Given the description of an element on the screen output the (x, y) to click on. 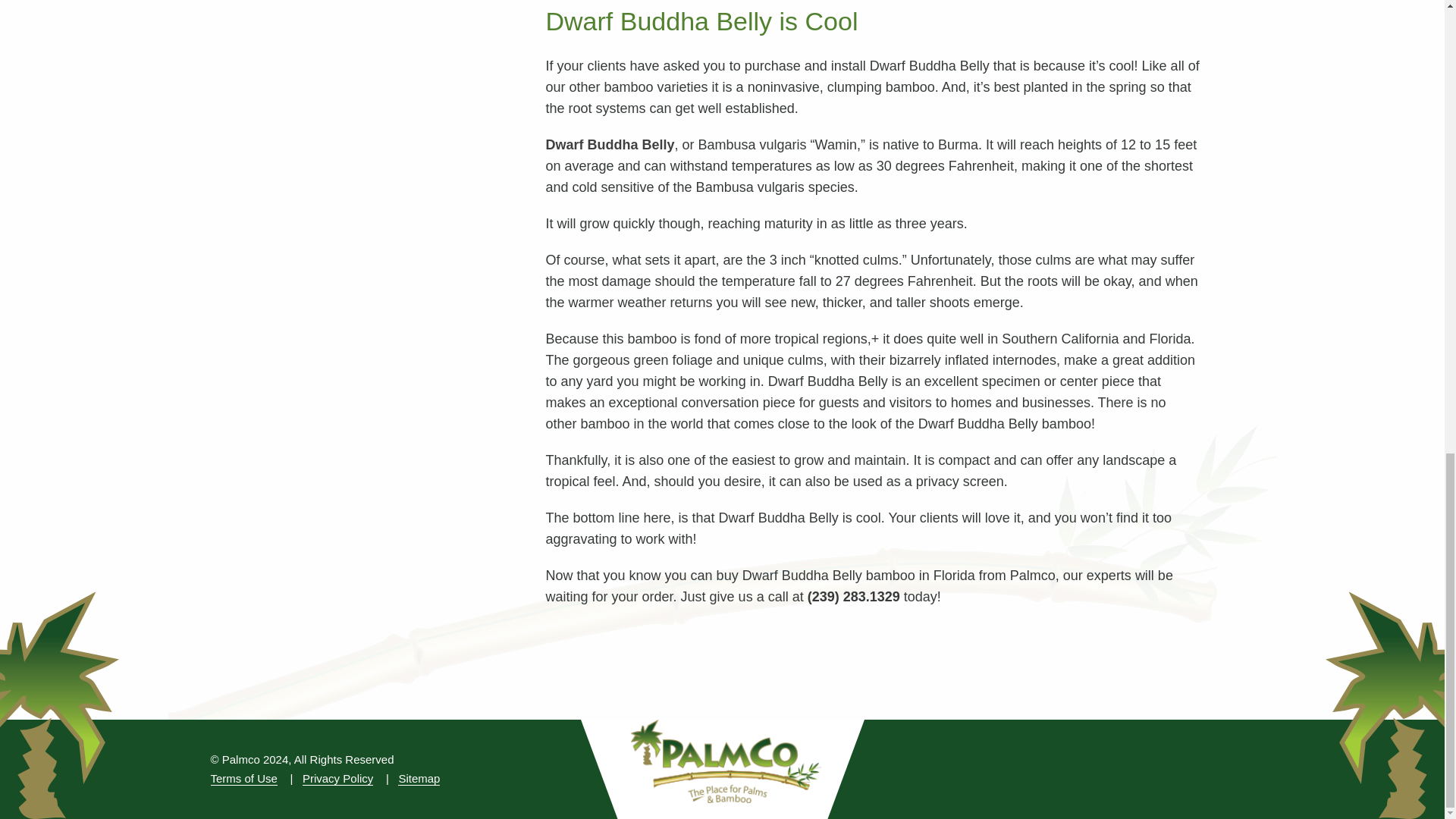
Terms of Use (244, 778)
Sitemap (418, 778)
Dwarf Buddha Belly (610, 144)
Privacy Policy (337, 778)
